Given the description of an element on the screen output the (x, y) to click on. 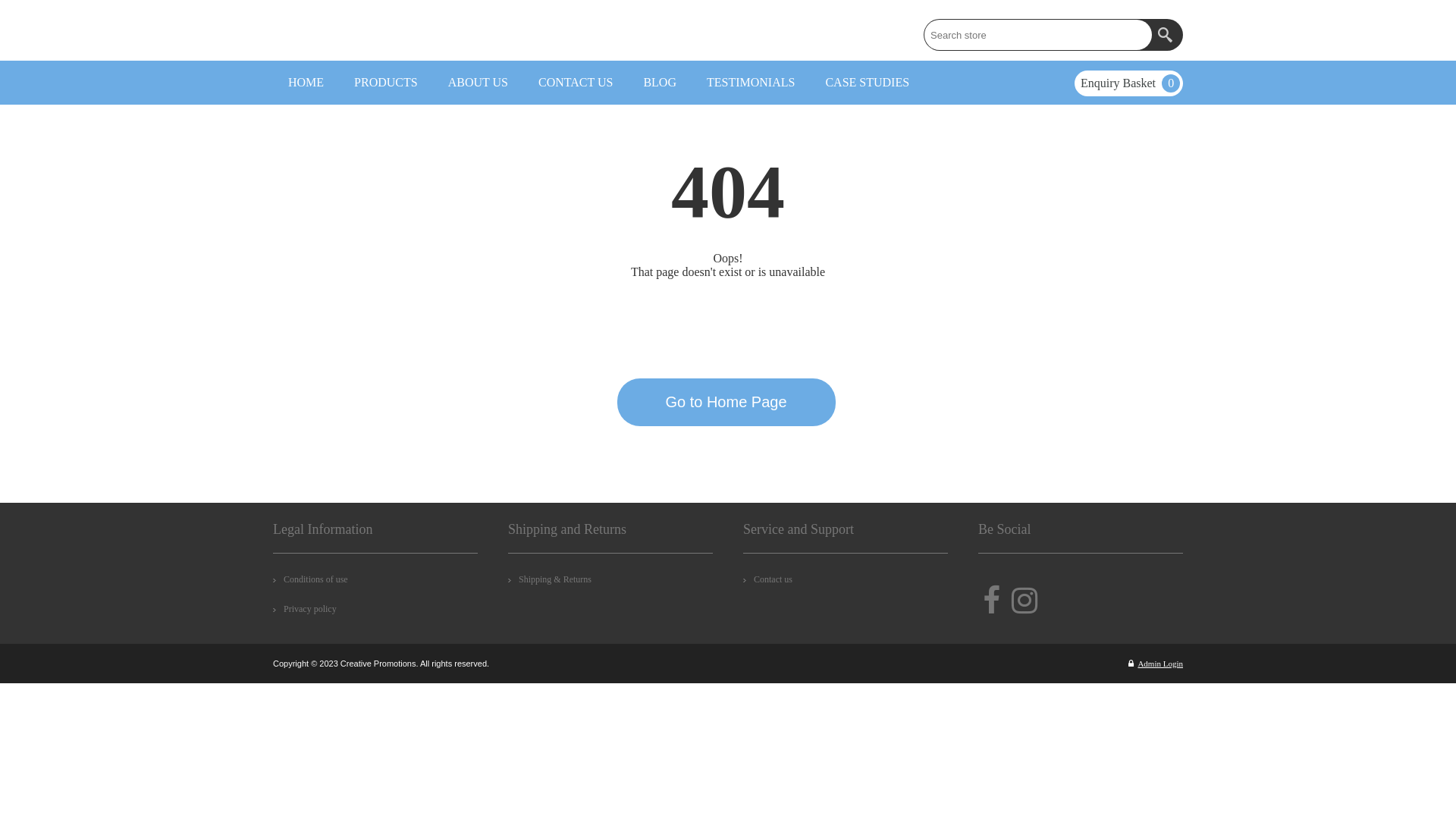
Conditions of use Element type: text (310, 579)
HOME Element type: text (305, 82)
Search Element type: text (1166, 34)
Privacy policy Element type: text (304, 609)
TESTIMONIALS Element type: text (750, 82)
ABOUT US Element type: text (478, 82)
Go to Home Page Element type: text (726, 402)
Contact us Element type: text (767, 579)
PRODUCTS Element type: text (385, 82)
Admin Login Element type: text (1155, 663)
CASE STUDIES Element type: text (866, 82)
BLOG Element type: text (659, 82)
CONTACT US Element type: text (575, 82)
Shipping & Returns Element type: text (549, 579)
